Given the description of an element on the screen output the (x, y) to click on. 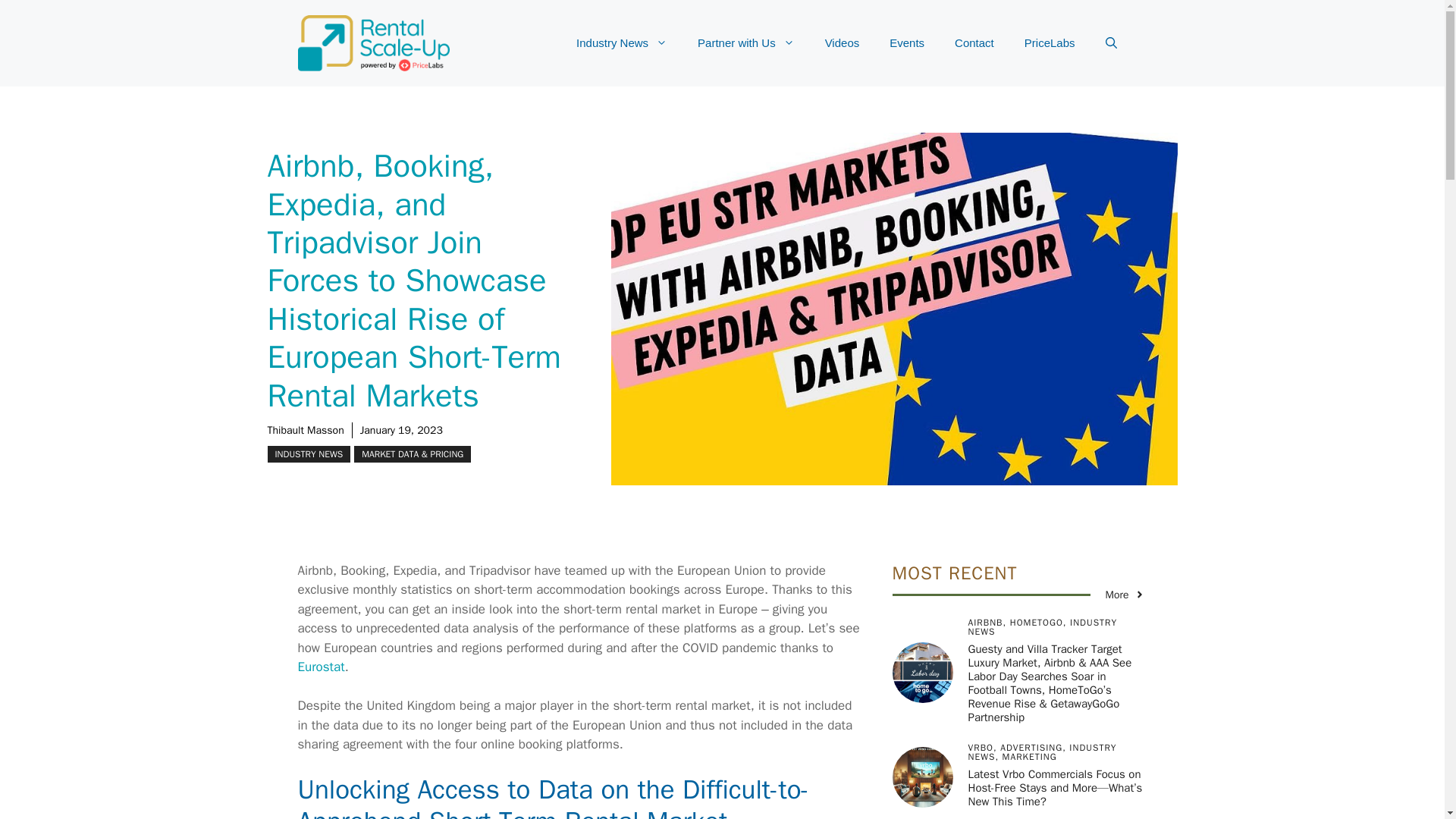
More (1124, 594)
Partner with Us (745, 43)
PriceLabs (1049, 43)
INDUSTRY NEWS (308, 453)
Videos (842, 43)
Contact (974, 43)
Thibault Masson (304, 430)
Eurostat (320, 666)
Events (907, 43)
Industry News (621, 43)
